Given the description of an element on the screen output the (x, y) to click on. 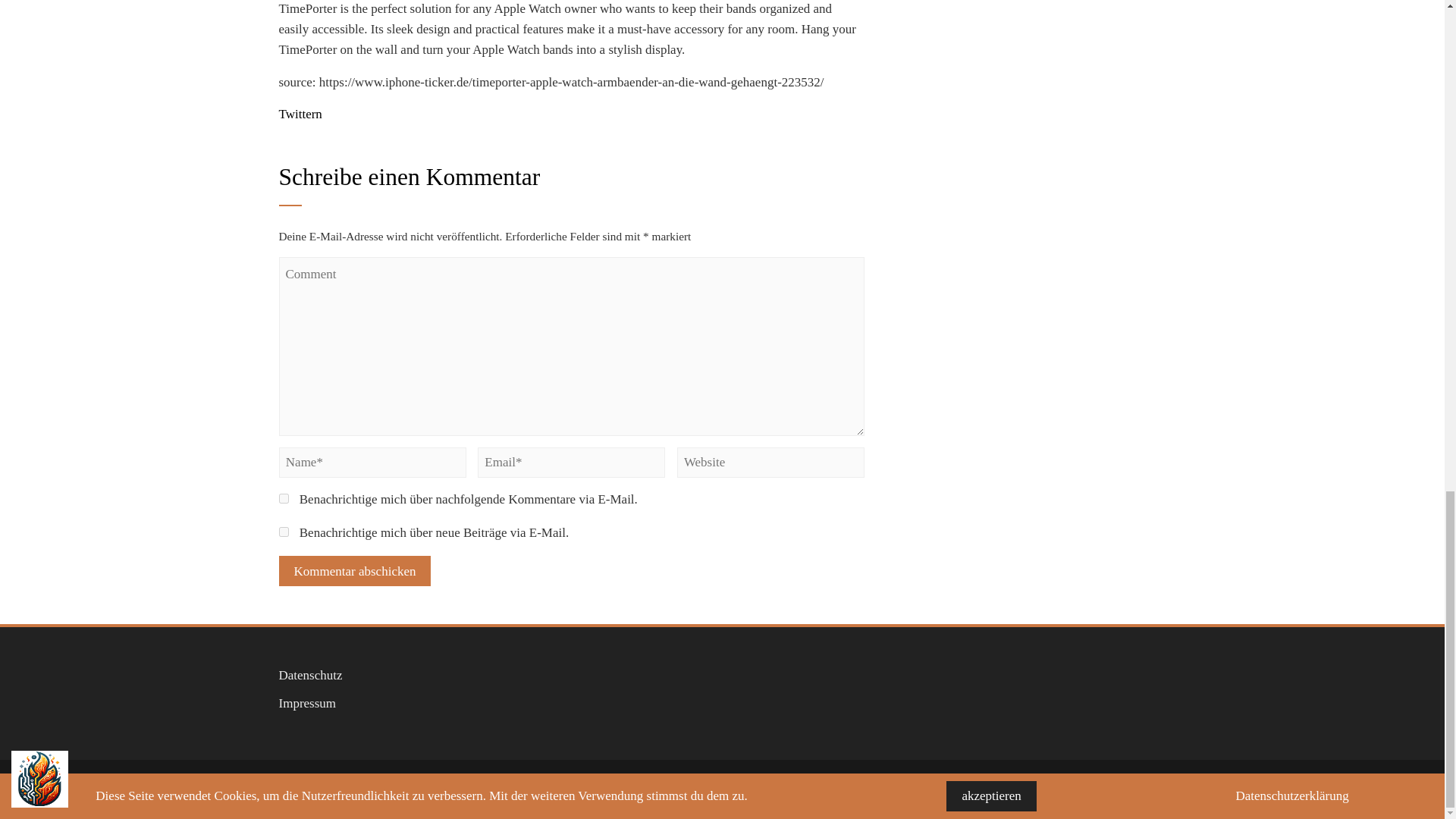
Datenschutz (310, 675)
subscribe (283, 532)
Twittern (300, 114)
Kommentar abschicken (354, 571)
Kommentar abschicken (354, 571)
WordPress Theme - Total (683, 789)
Impressum (307, 703)
subscribe (283, 498)
